Given the description of an element on the screen output the (x, y) to click on. 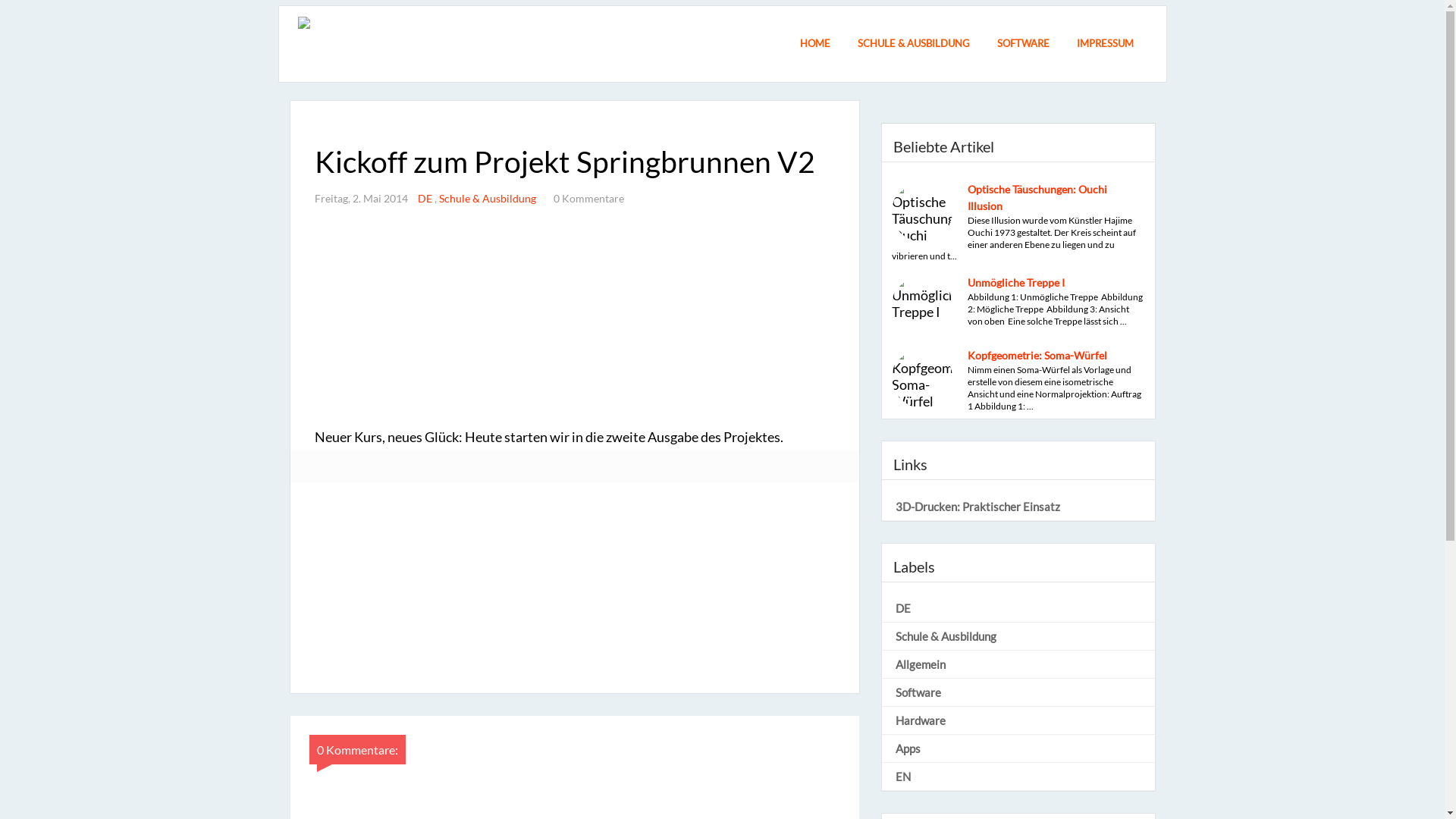
SOFTWARE Element type: text (1022, 45)
Apps Element type: text (1018, 748)
Software Element type: text (1018, 691)
IMPRESSUM Element type: text (1105, 45)
DE Element type: text (425, 198)
DE Element type: text (1018, 607)
Allgemein Element type: text (1018, 663)
Schule & Ausbildung Element type: text (1018, 635)
HOME Element type: text (814, 45)
EN Element type: text (1018, 776)
Hardware Element type: text (1018, 720)
3D-Drucken: Praktischer Einsatz Element type: text (1018, 506)
Schule & Ausbildung Element type: text (487, 198)
SCHULE & AUSBILDUNG Element type: text (912, 45)
